Given the description of an element on the screen output the (x, y) to click on. 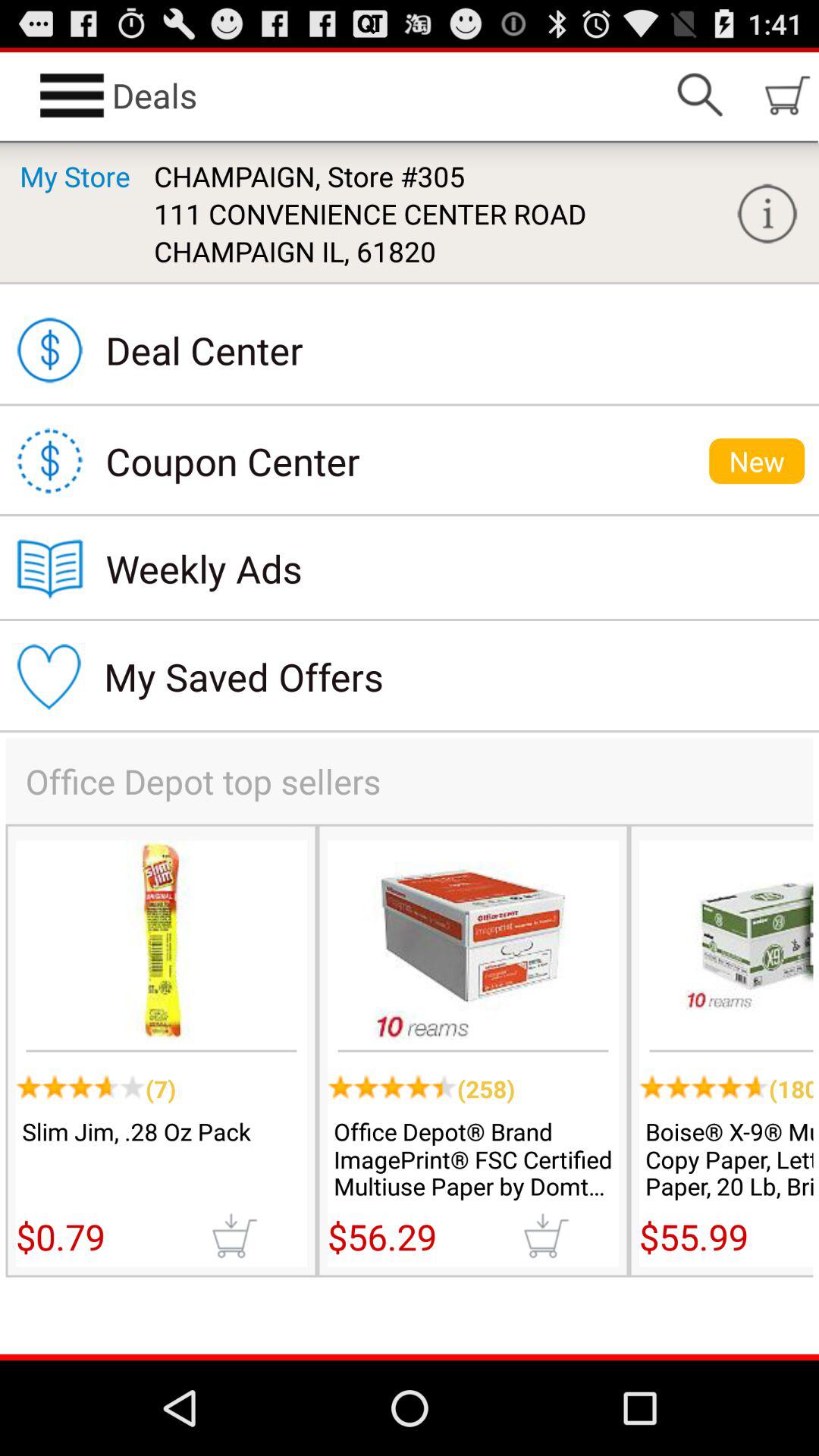
tap icon above champaign, store #305 item (699, 95)
